Given the description of an element on the screen output the (x, y) to click on. 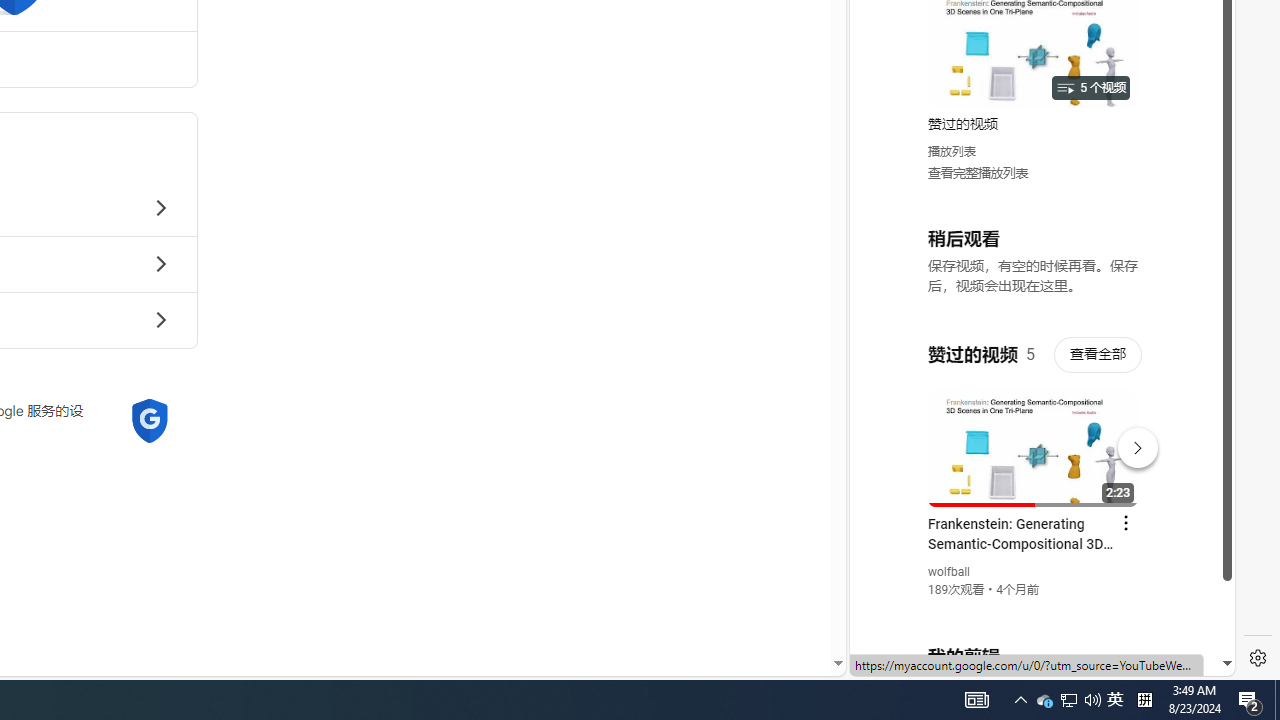
US[ju] (917, 660)
Class: dict_pnIcon rms_img (1028, 660)
wolfball (949, 572)
YouTube - YouTube (1034, 266)
you (1034, 609)
